Given the description of an element on the screen output the (x, y) to click on. 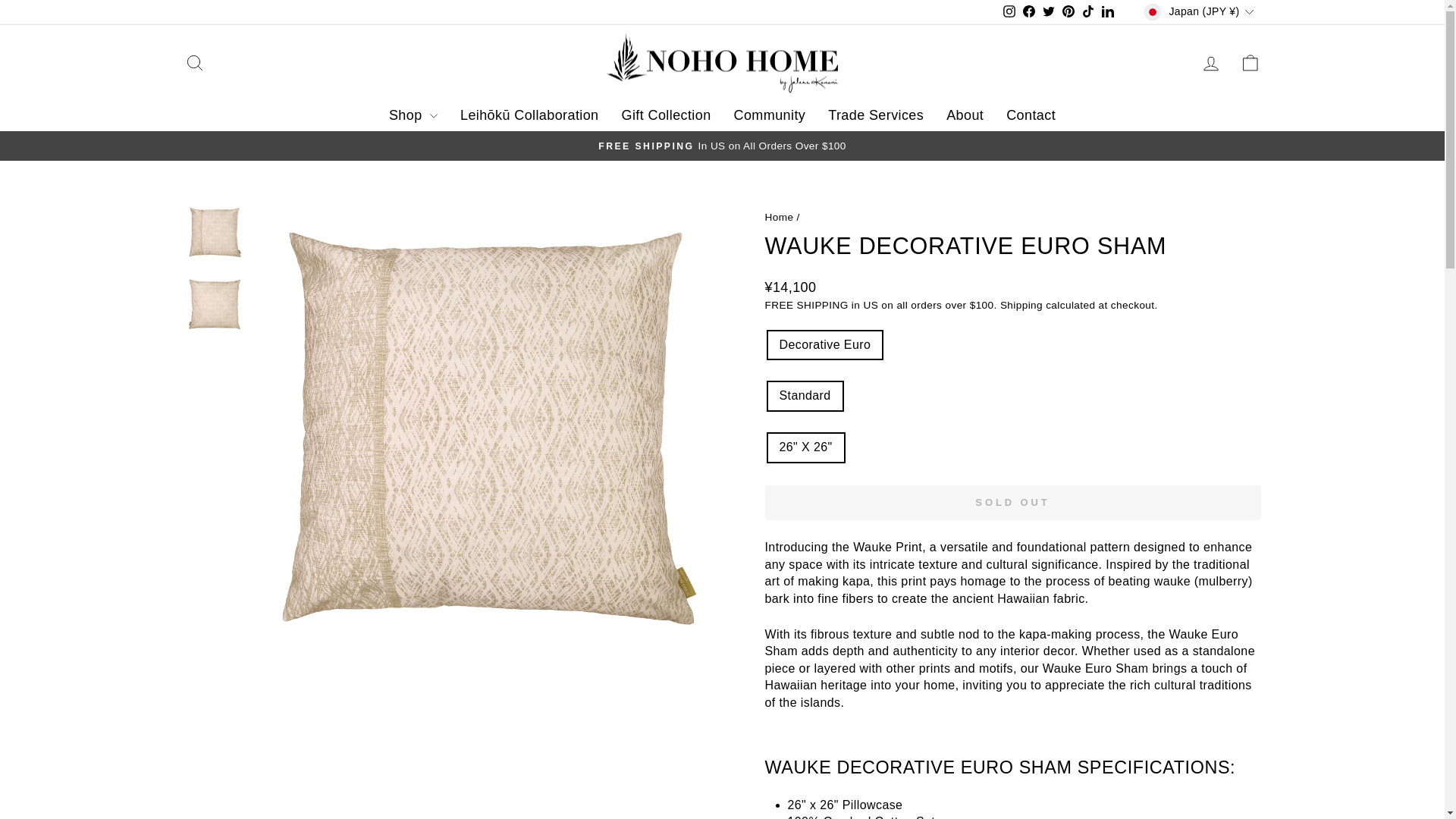
NOHO HOME on TikTok (1087, 12)
Back to NOHO HOME coastal home decor homepage (778, 216)
NOHO HOME on Pinterest (1068, 12)
instagram (1008, 10)
NOHO HOME on Facebook (1029, 12)
twitter (1048, 10)
NOHO HOME on LinkedIn (1107, 12)
NOHO HOME on Twitter (1048, 12)
account (1210, 63)
icon-bag-minimal (1249, 62)
icon-search (194, 62)
NOHO HOME on Instagram (1008, 12)
